Given the description of an element on the screen output the (x, y) to click on. 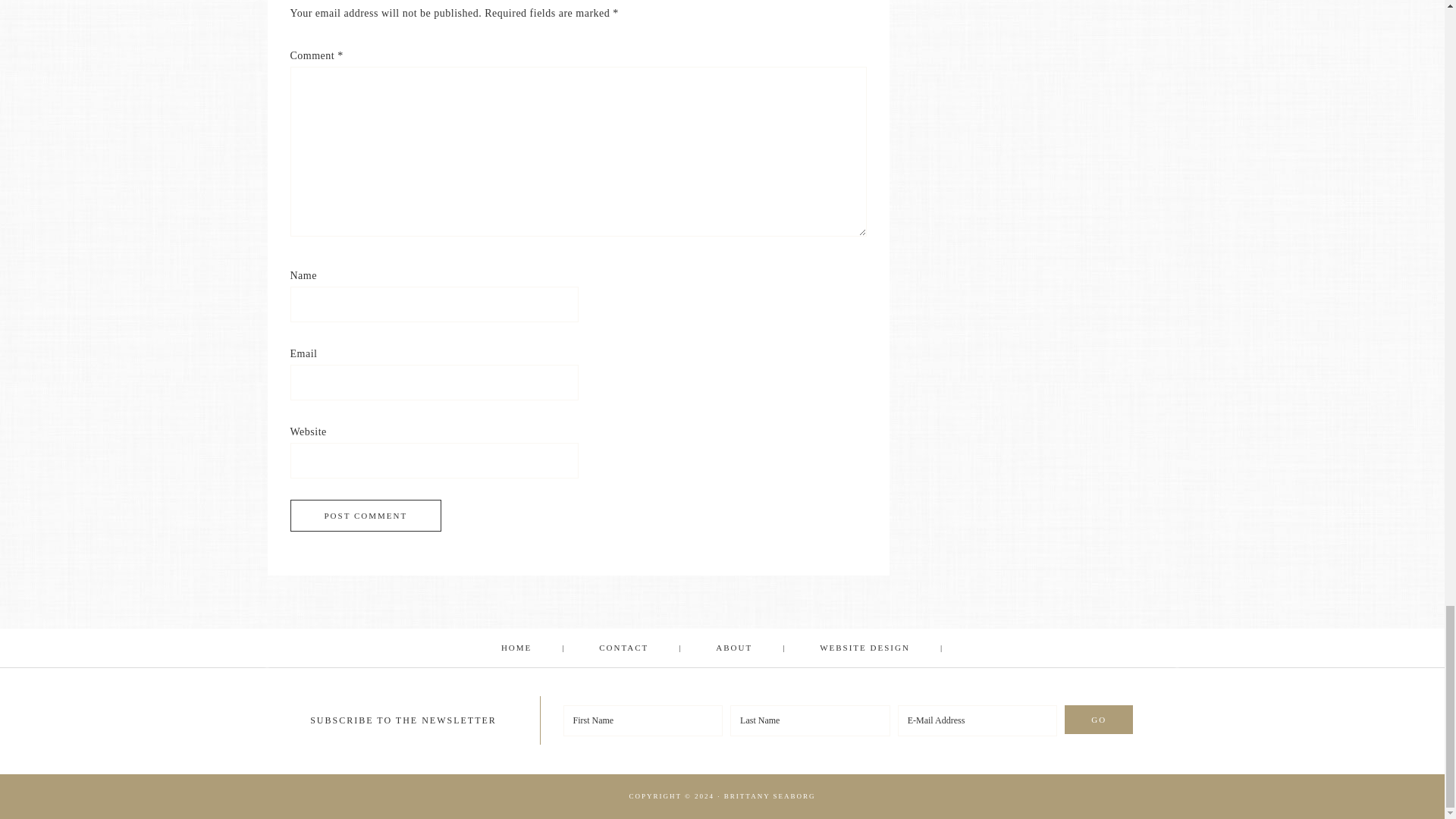
HOME (533, 647)
Go (1098, 719)
BRITTANY SEABORG (769, 796)
Post Comment (365, 515)
WEBSITE DESIGN (881, 647)
Post Comment (365, 515)
Go (1098, 719)
ABOUT (750, 647)
CONTACT (640, 647)
